Given the description of an element on the screen output the (x, y) to click on. 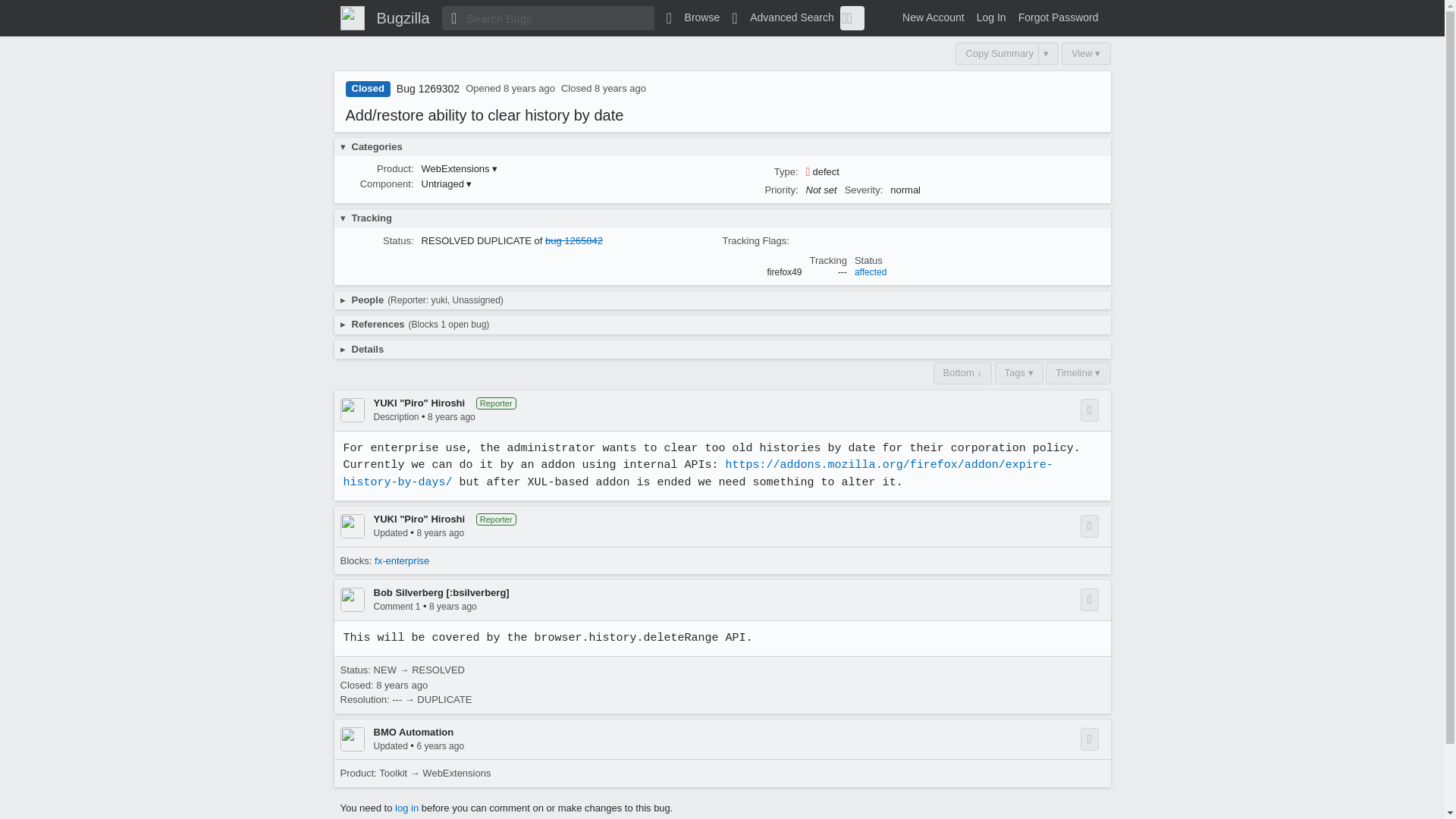
Search bugs using various criteria (782, 17)
Copy bug number and summary to your clipboard (996, 53)
Copy Summary (996, 53)
Forgot Password (1058, 17)
Advanced Search (782, 17)
Browse (693, 17)
Bug 1269302 (428, 88)
Bugzilla (402, 17)
More options for copy (1048, 53)
Browse bugs by component (693, 17)
